Given the description of an element on the screen output the (x, y) to click on. 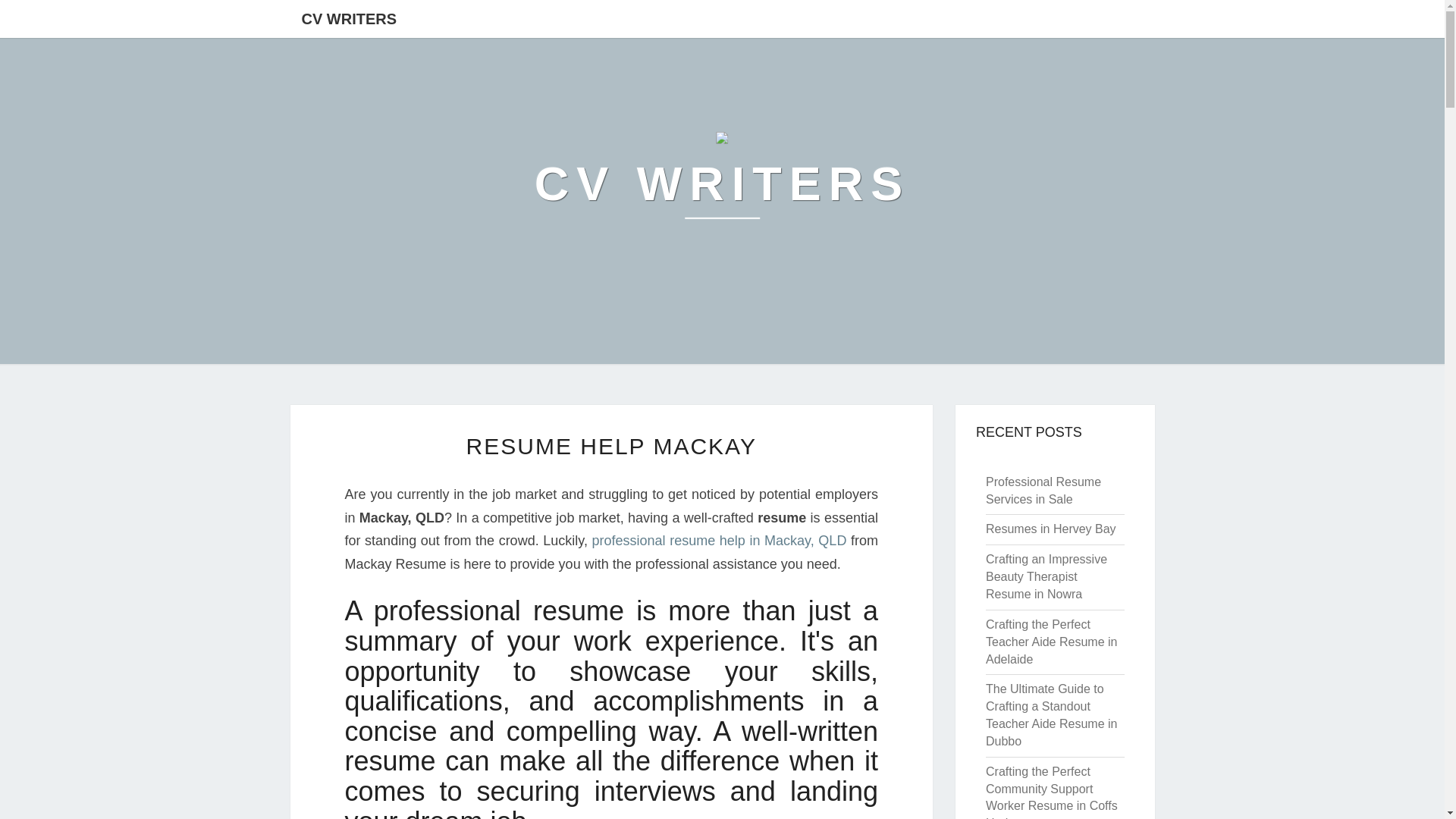
CV Writers (722, 184)
CV WRITERS (722, 184)
CV WRITERS (348, 18)
professional resume help in Mackay, QLD (719, 540)
Crafting the Perfect Teacher Aide Resume in Adelaide (1050, 641)
Professional Resume Services in Sale (1042, 490)
RESUME HELP MACKAY (611, 446)
Resumes in Hervey Bay (1050, 528)
